Given the description of an element on the screen output the (x, y) to click on. 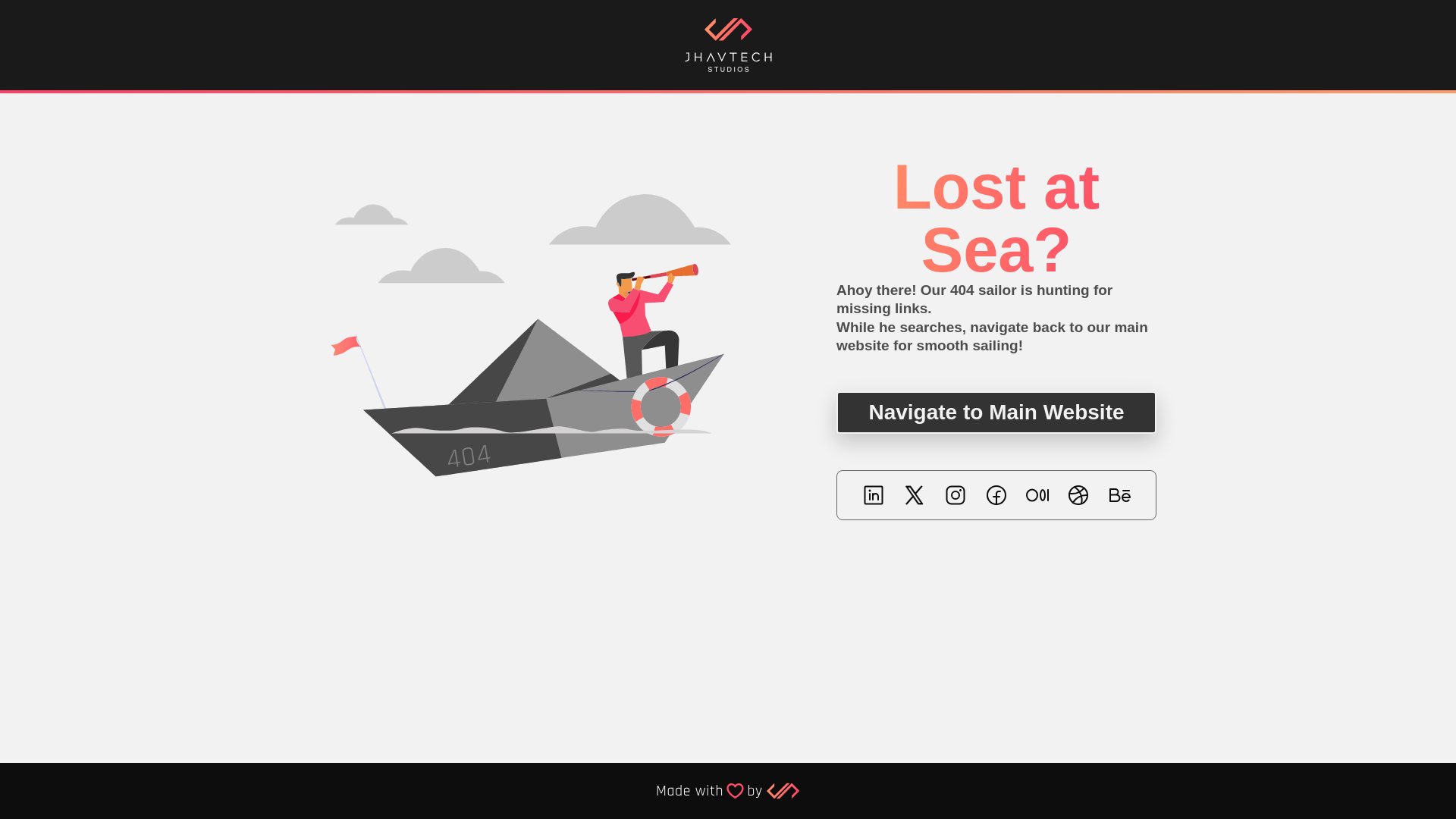
Twitter X Element type: hover (914, 495)
Dribbble Element type: hover (1078, 495)
Medium Element type: hover (1037, 495)
LinkedIn Element type: hover (873, 495)
Instagram Element type: hover (955, 495)
Behance Element type: hover (1119, 495)
Navigate to Main Website Element type: text (996, 412)
Facebook Element type: hover (996, 495)
